Given the description of an element on the screen output the (x, y) to click on. 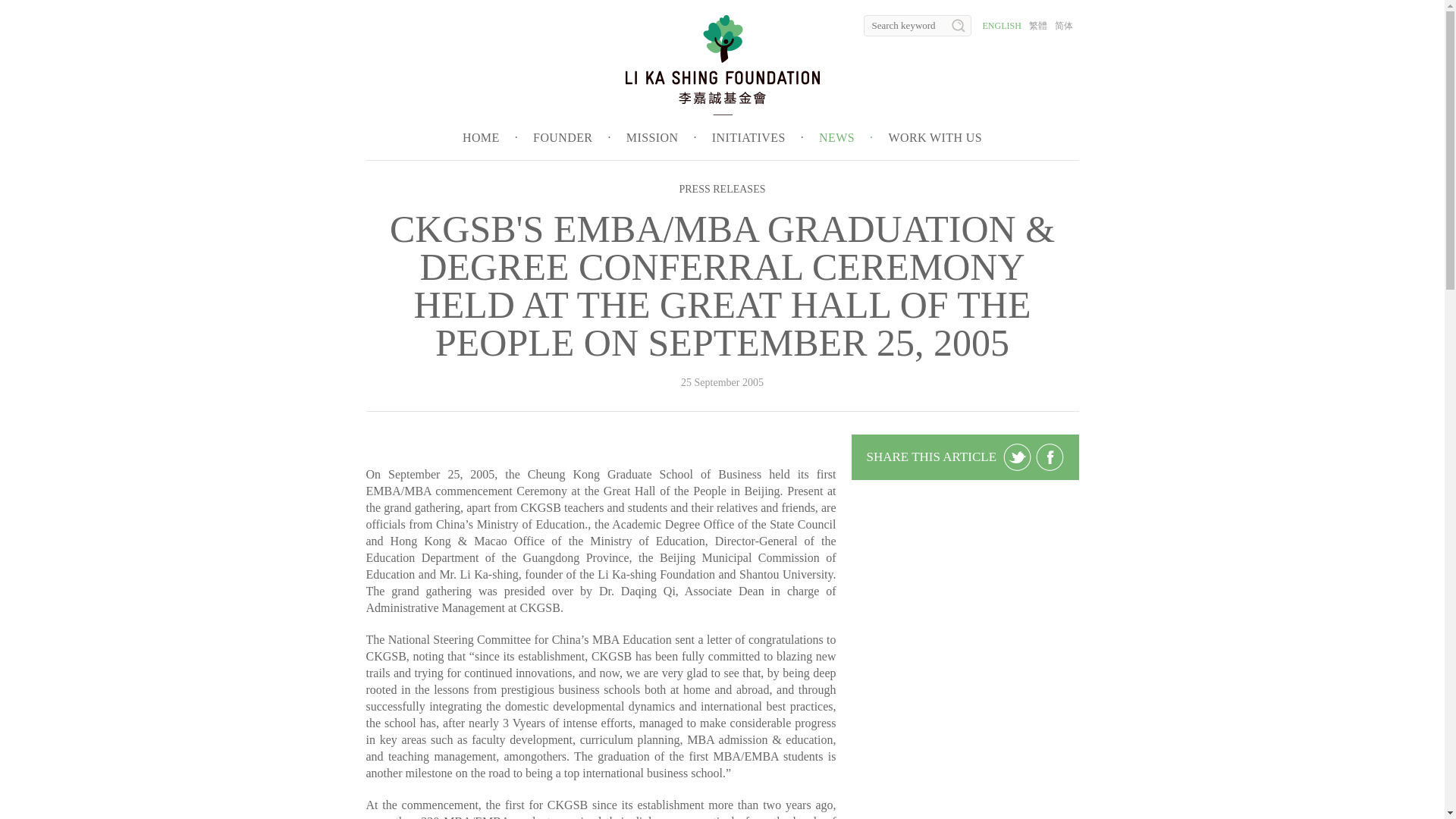
WORK WITH US (934, 137)
ENGLISH (1002, 25)
PRESS RELEASES (722, 188)
